Given the description of an element on the screen output the (x, y) to click on. 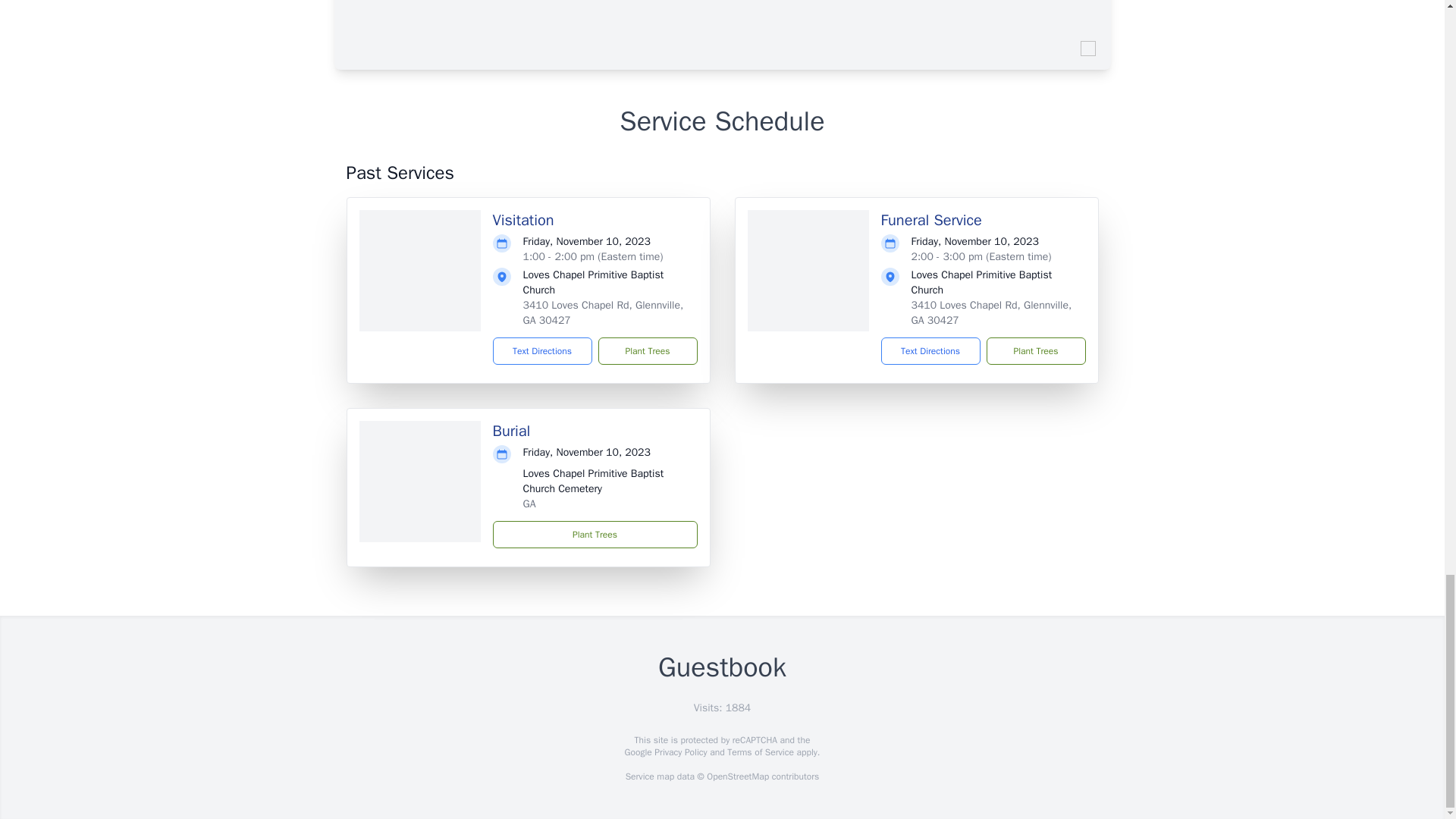
Text Directions (542, 350)
Text Directions (929, 350)
GA (528, 503)
Plant Trees (595, 533)
Plant Trees (1034, 350)
3410 Loves Chapel Rd, Glennville, GA 30427 (991, 312)
OpenStreetMap (737, 776)
3410 Loves Chapel Rd, Glennville, GA 30427 (603, 312)
Terms of Service (759, 752)
Privacy Policy (679, 752)
Plant Trees (646, 350)
